Given the description of an element on the screen output the (x, y) to click on. 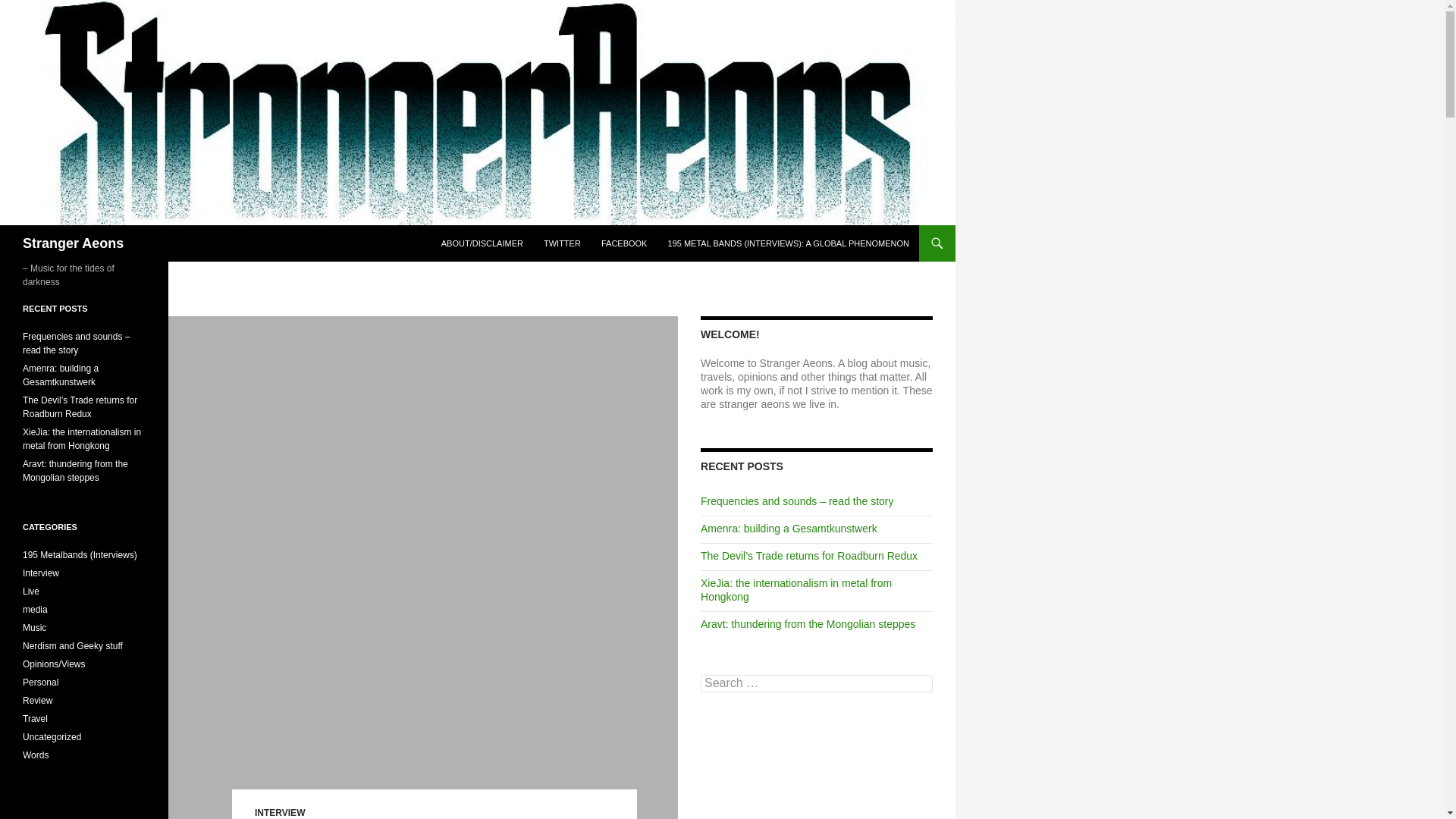
Stranger Aeons (73, 243)
FACEBOOK (624, 243)
TWITTER (561, 243)
INTERVIEW (279, 812)
